Given the description of an element on the screen output the (x, y) to click on. 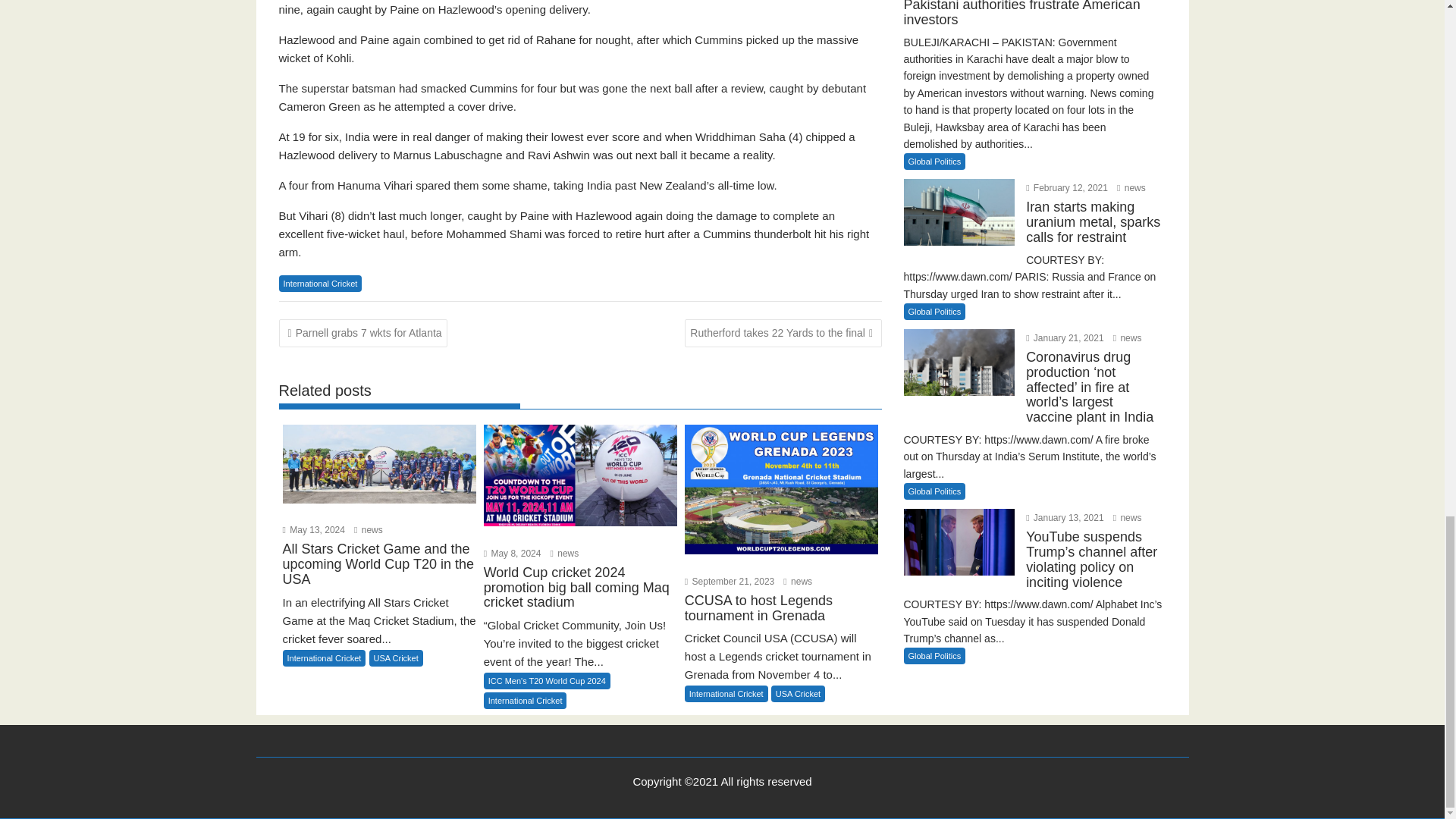
news (564, 552)
news (367, 529)
